Given the description of an element on the screen output the (x, y) to click on. 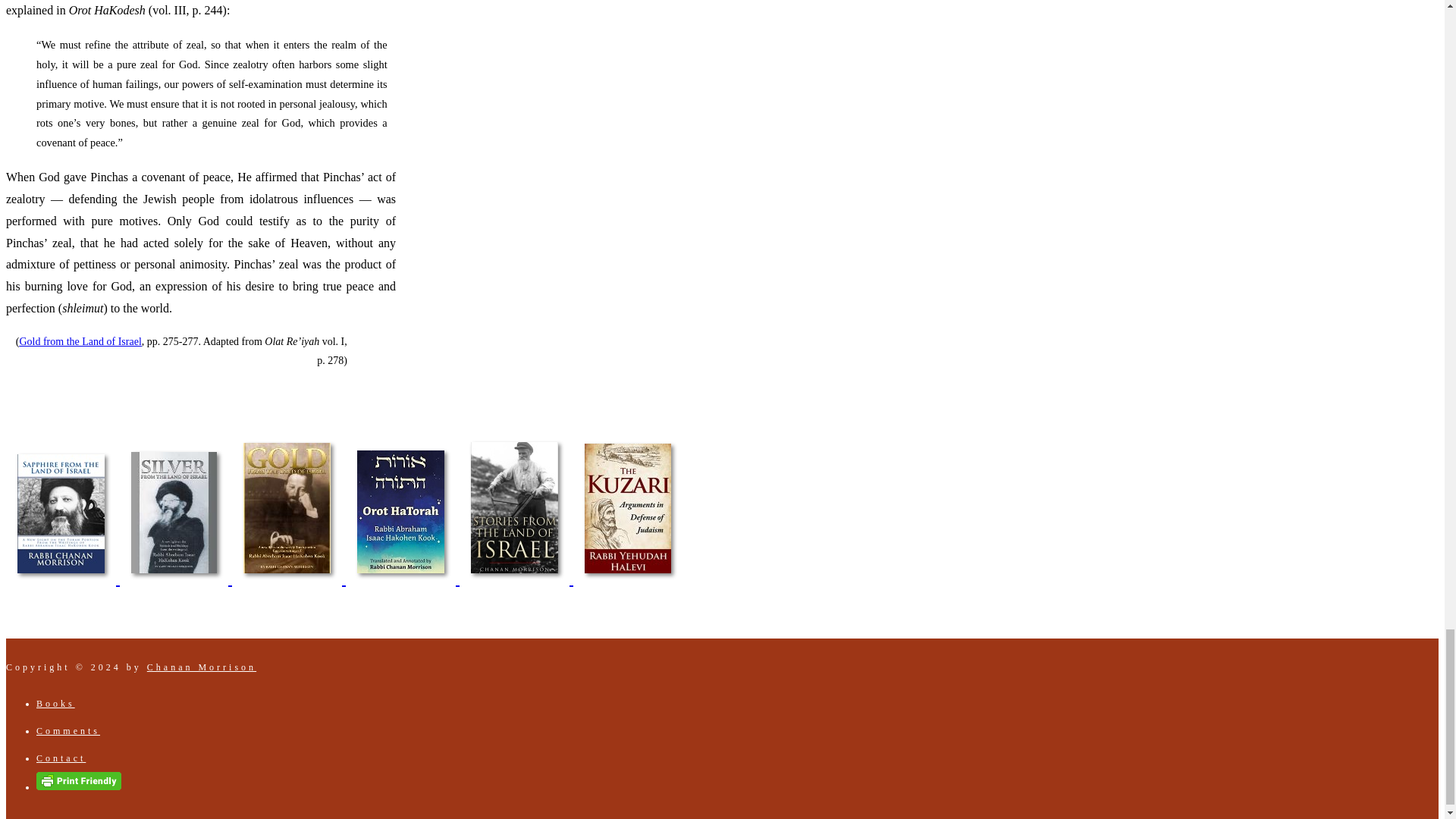
Comments (68, 730)
Books (55, 703)
Contact (60, 757)
Gold from the Land of Israel (79, 341)
Chanan Morrison (201, 666)
Printer Friendly and PDF (78, 787)
